Given the description of an element on the screen output the (x, y) to click on. 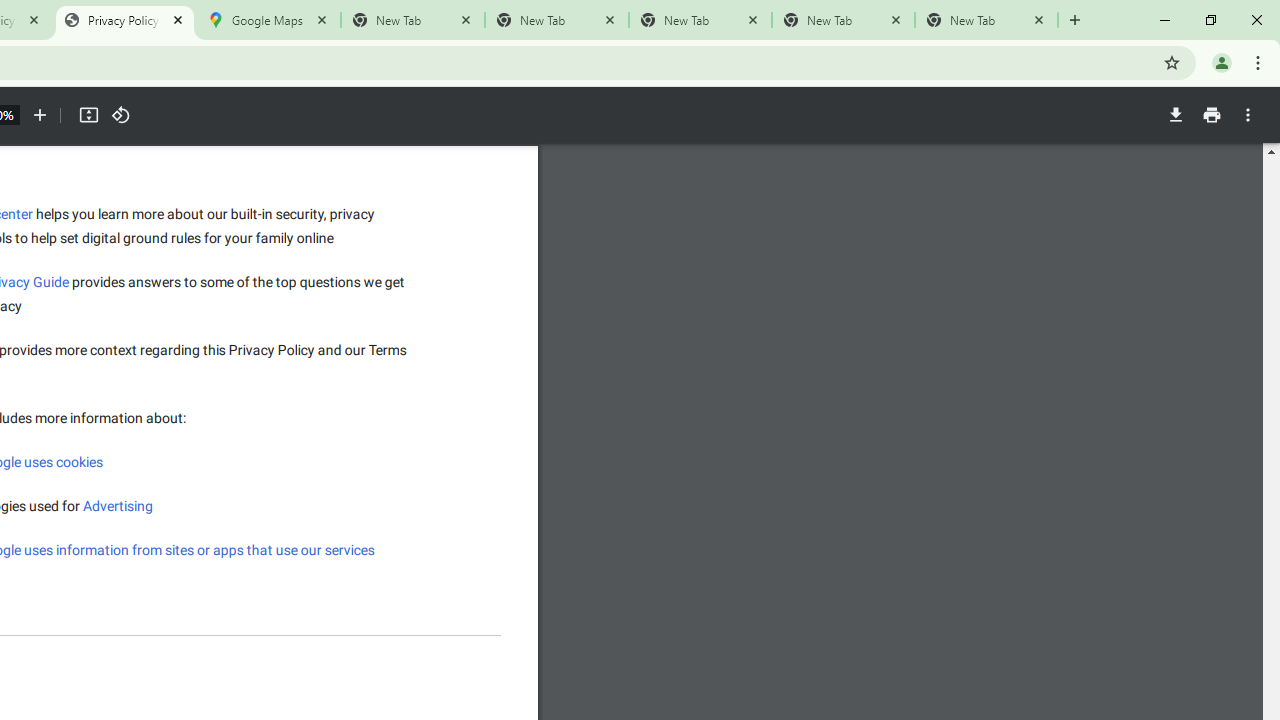
Google Maps (268, 20)
More actions (1247, 115)
Advertising (118, 506)
New Tab (986, 20)
Rotate counterclockwise (119, 115)
Print (1211, 115)
Zoom in (39, 115)
Download (1175, 115)
Fit to page (87, 115)
